Given the description of an element on the screen output the (x, y) to click on. 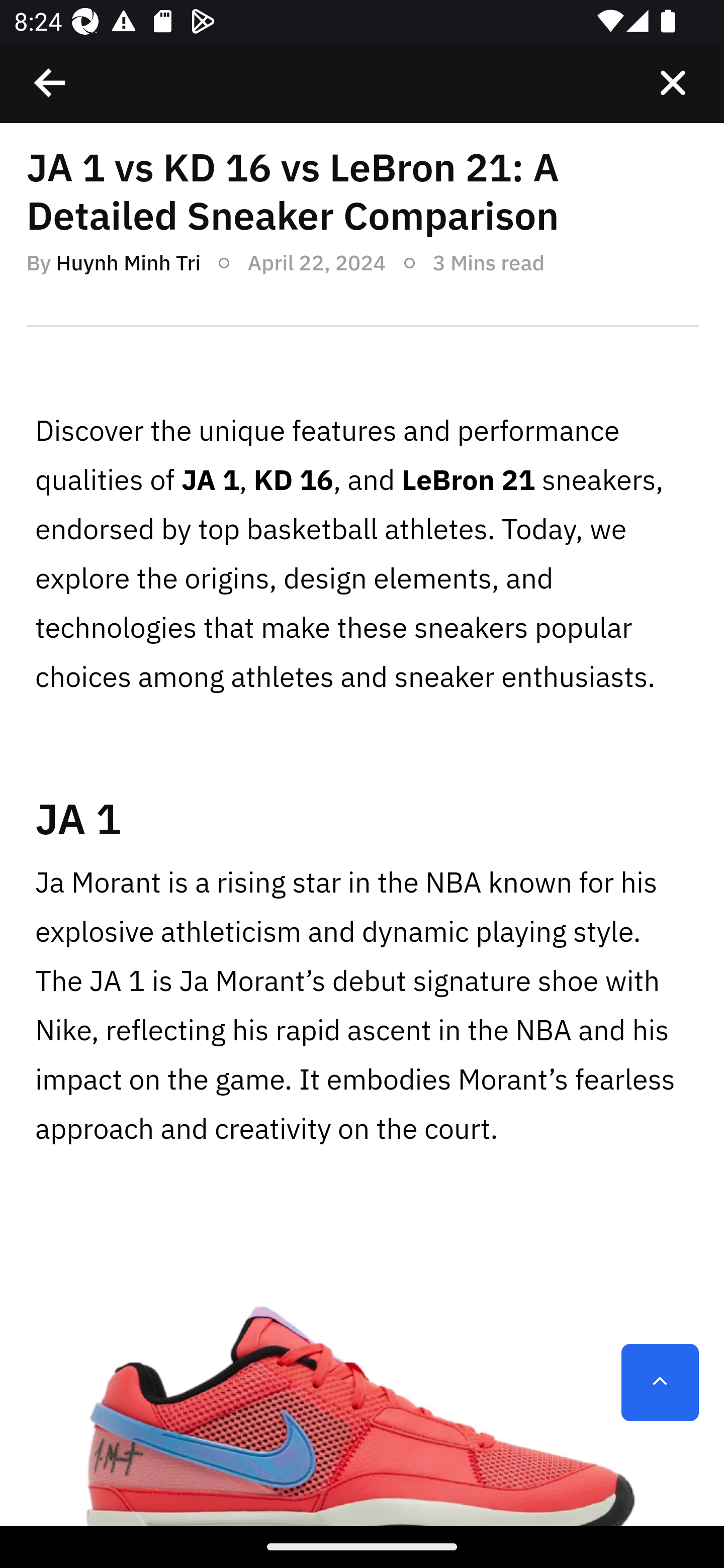
 (50, 83)
 (672, 83)
Huynh Minh Tri (127, 262)
Nike Ja 1 EP 'Fuel' DR8786‑800 (361, 1371)
Scroll to top  (659, 1382)
